Given the description of an element on the screen output the (x, y) to click on. 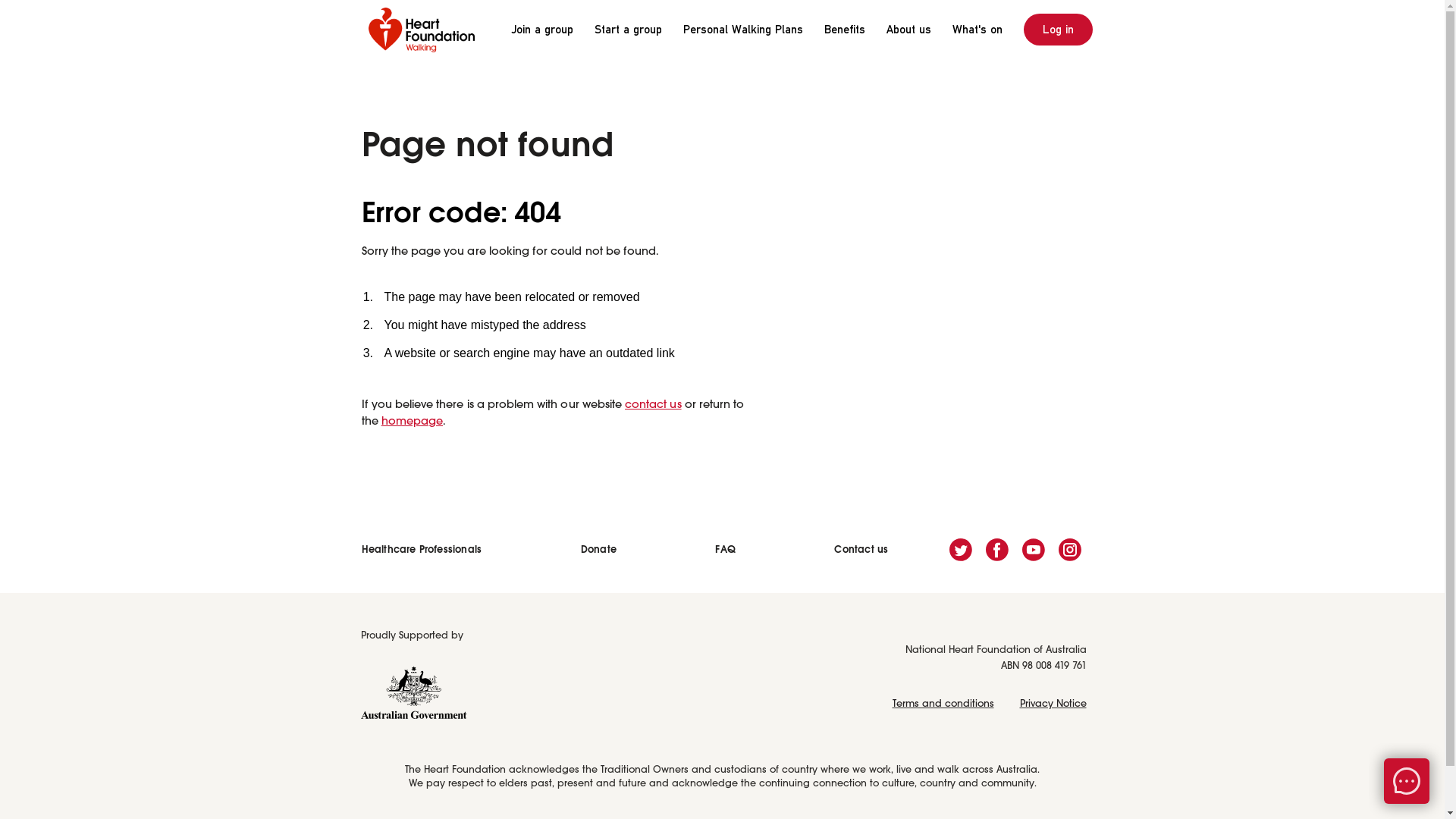
Contact us Element type: text (861, 548)
Join a group Element type: text (541, 29)
Benefits Element type: text (843, 29)
homepage Element type: text (411, 421)
contact us Element type: text (652, 404)
Terms and conditions Element type: text (942, 703)
Healthcare Professionals Element type: text (420, 548)
Log in Element type: text (1057, 29)
Personal Walking Plans Element type: text (742, 29)
Start a group Element type: text (628, 29)
About us Element type: text (907, 29)
FAQ Element type: text (725, 548)
What's on Element type: text (977, 29)
Donate Element type: text (598, 548)
Privacy Notice Element type: text (1052, 703)
